Given the description of an element on the screen output the (x, y) to click on. 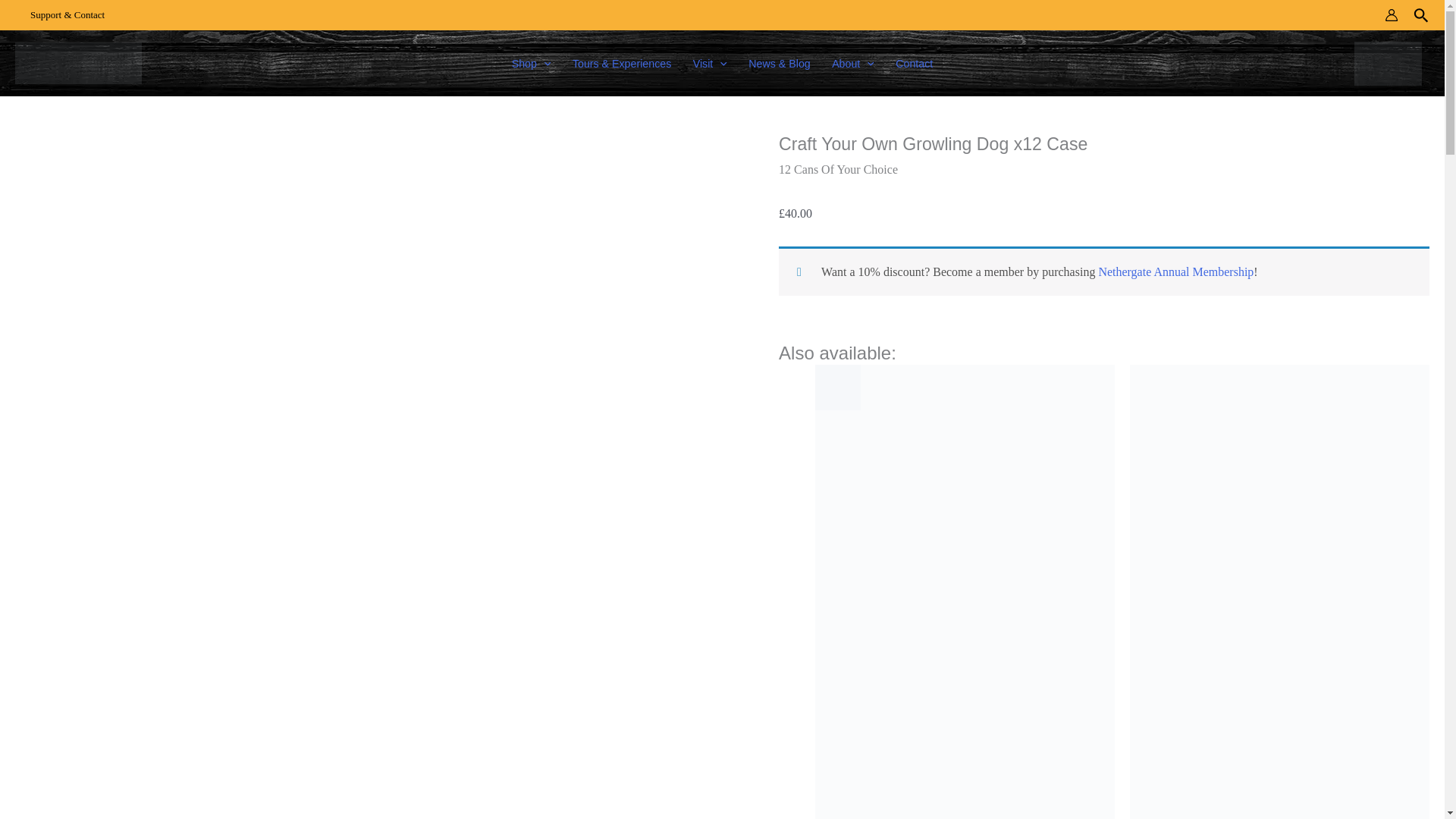
Shop (530, 63)
Visit (710, 63)
